Given the description of an element on the screen output the (x, y) to click on. 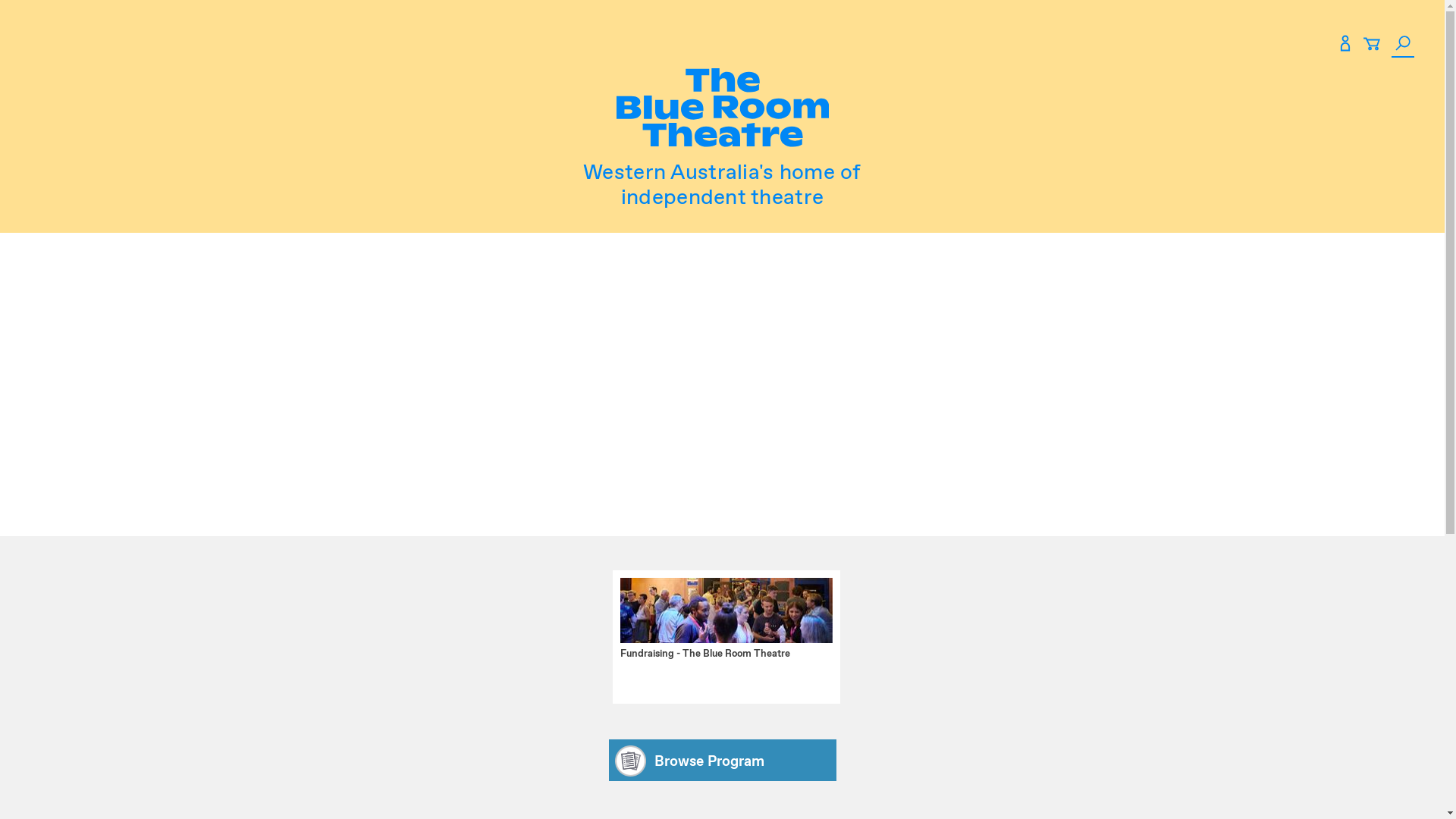
Fundraising - The Blue Room Theatre Element type: text (718, 647)
The Blue Room Theatre Element type: text (721, 109)
Cart Element type: hover (1371, 45)
Browse Program Element type: text (721, 760)
My Account Element type: hover (1345, 45)
Search the Site Element type: text (1402, 45)
